Given the description of an element on the screen output the (x, y) to click on. 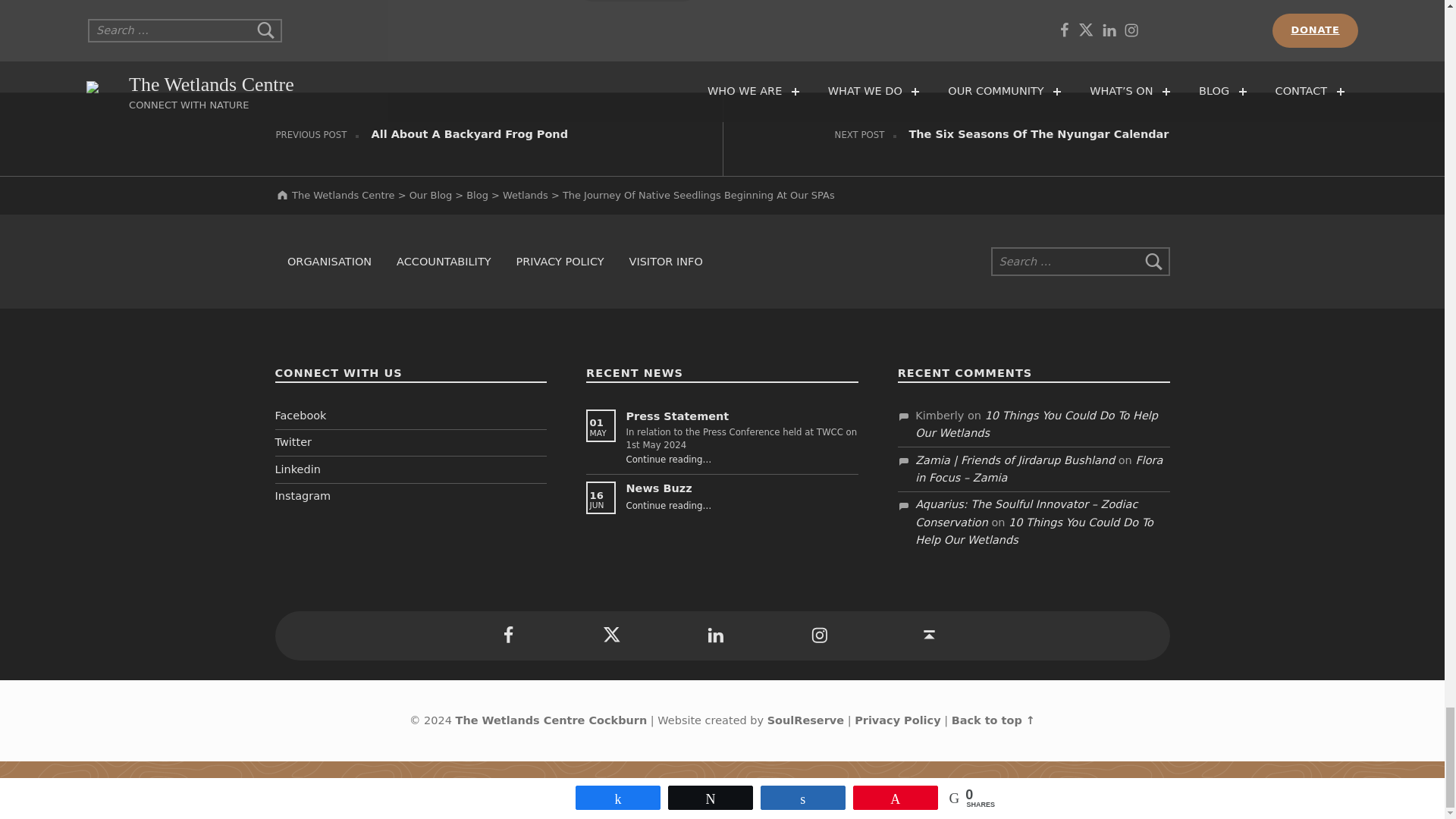
Go to Our BlogThe latest wetland news and stories. (430, 194)
Post Comment (637, 1)
Go to The Wetlands Centre. (334, 194)
Go to the Blog Category archives. (476, 194)
